Given the description of an element on the screen output the (x, y) to click on. 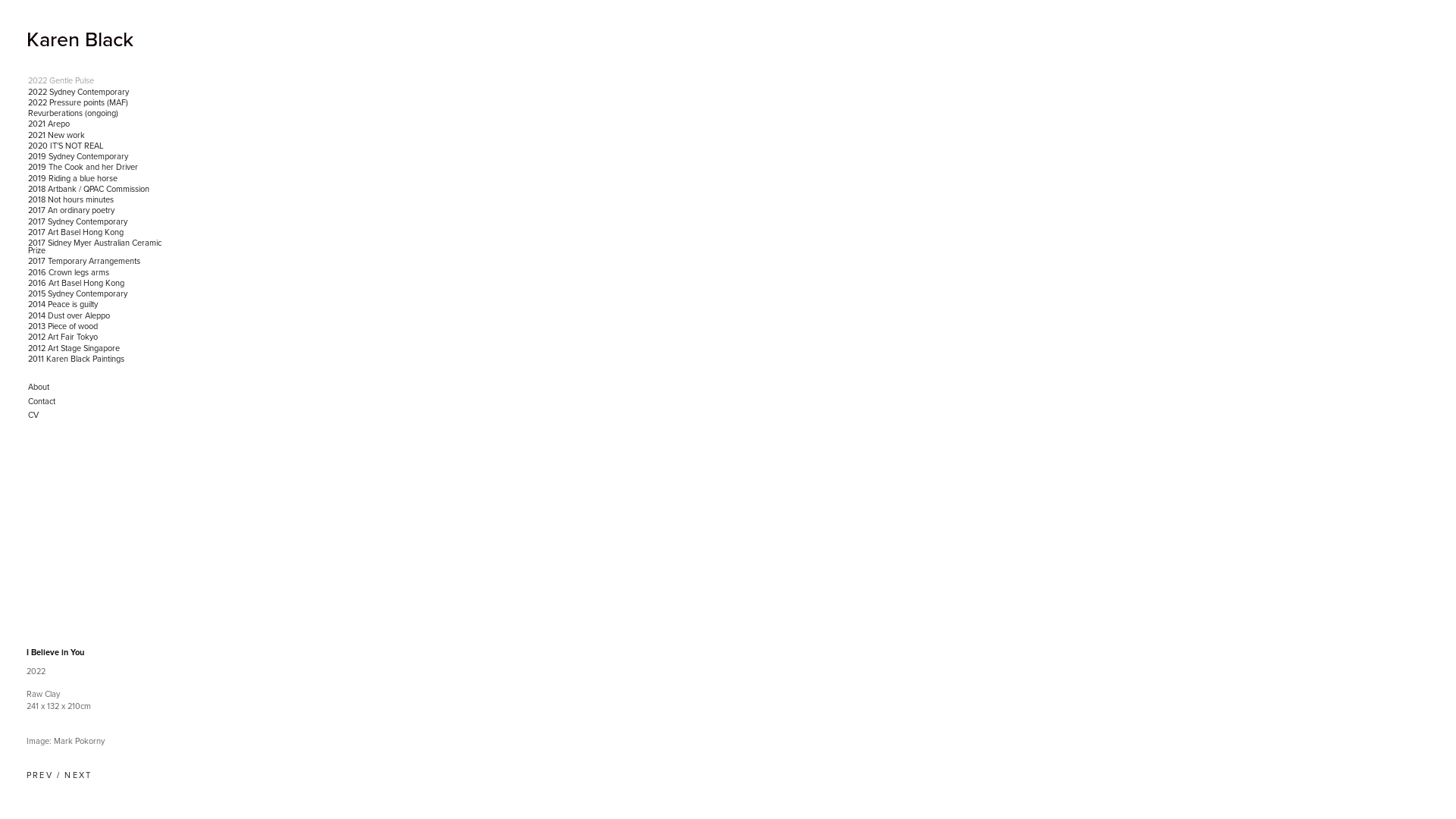
Revurberations (ongoing) Element type: text (97, 113)
2011 Karen Black Paintings Element type: text (97, 359)
2022 Sydney Contemporary Element type: text (97, 91)
Contact Element type: text (97, 401)
2017 Sidney Myer Australian Ceramic Prize Element type: text (97, 247)
2022 Gentle Pulse Element type: text (97, 80)
Karen Black Element type: text (79, 39)
2016 Crown legs arms Element type: text (97, 271)
2019 Riding a blue horse Element type: text (97, 177)
2014 Dust over Aleppo Element type: text (97, 315)
2014 Peace is guilty Element type: text (97, 304)
2020 IT'S NOT REAL Element type: text (97, 146)
2018 Artbank / QPAC Commission Element type: text (97, 189)
2022 Pressure points (MAF) Element type: text (97, 102)
2021 Arepo Element type: text (97, 124)
2017 Temporary Arrangements Element type: text (97, 261)
2017 An ordinary poetry Element type: text (97, 210)
2017 Sydney Contemporary Element type: text (97, 221)
2021 New work Element type: text (97, 134)
2012 Art Stage Singapore Element type: text (97, 347)
2018 Not hours minutes Element type: text (97, 199)
2013 Piece of wood Element type: text (97, 326)
2017 Art Basel Hong Kong Element type: text (97, 232)
About Element type: text (97, 386)
2019 Sydney Contemporary Element type: text (97, 156)
2019 The Cook and her Driver Element type: text (97, 167)
2015 Sydney Contemporary Element type: text (97, 293)
2012 Art Fair Tokyo Element type: text (97, 337)
2016 Art Basel Hong Kong Element type: text (97, 283)
CV Element type: text (97, 414)
